Given the description of an element on the screen output the (x, y) to click on. 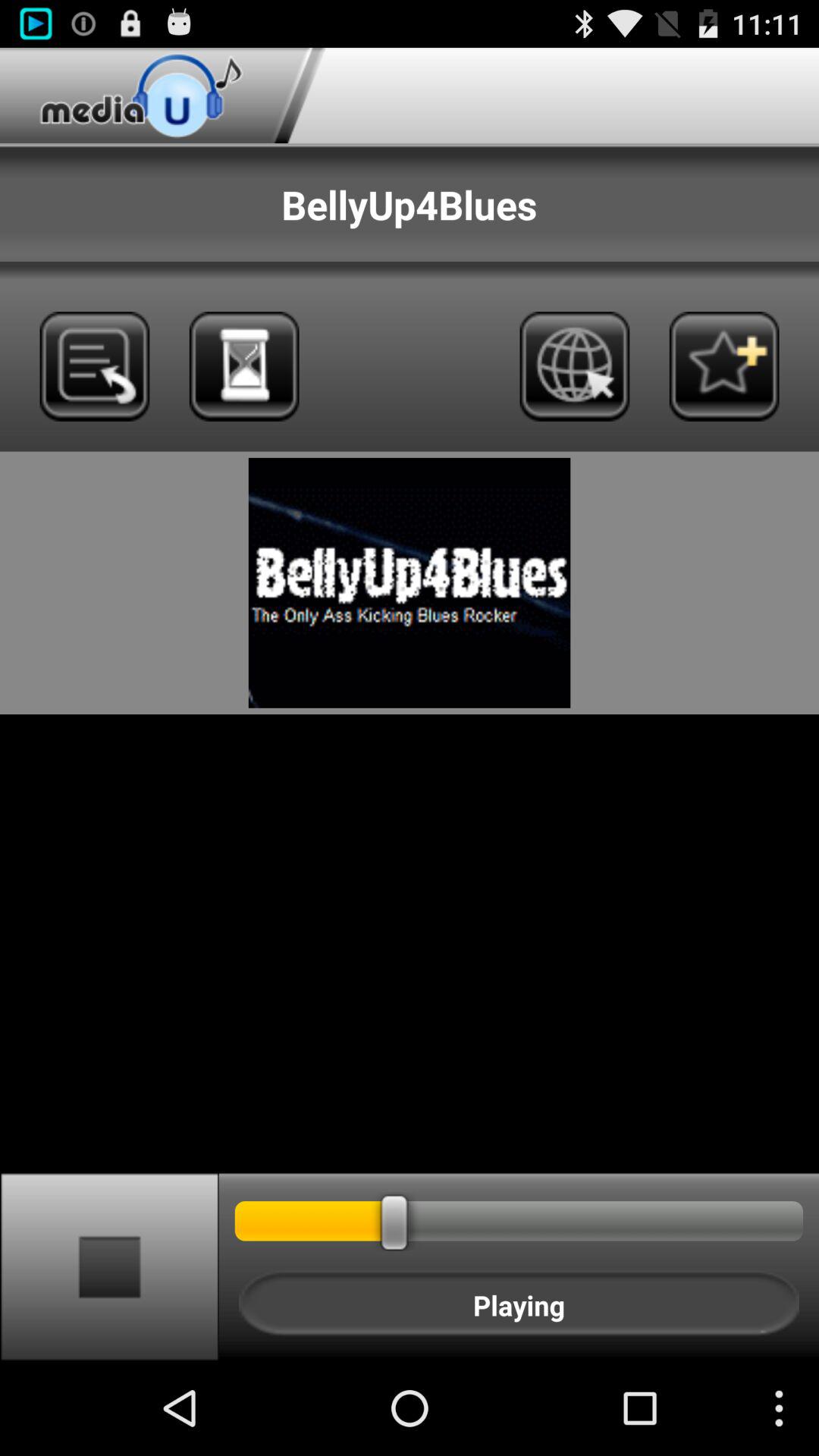
open/close menu (94, 366)
